Given the description of an element on the screen output the (x, y) to click on. 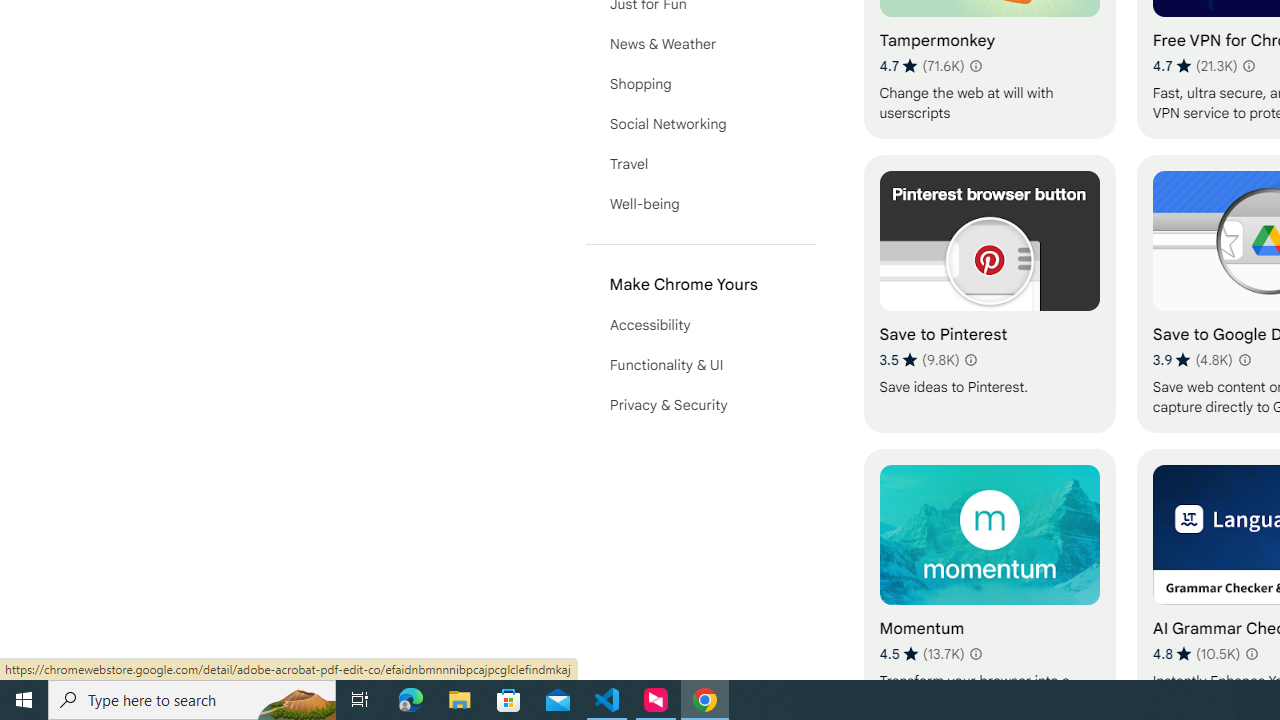
Accessibility (700, 324)
Average rating 3.9 out of 5 stars. 4.8K ratings. (1192, 359)
Learn more about results and reviews "Momentum" (975, 654)
Average rating 3.5 out of 5 stars. 9.8K ratings. (919, 359)
Save to Pinterest (989, 293)
